Given the description of an element on the screen output the (x, y) to click on. 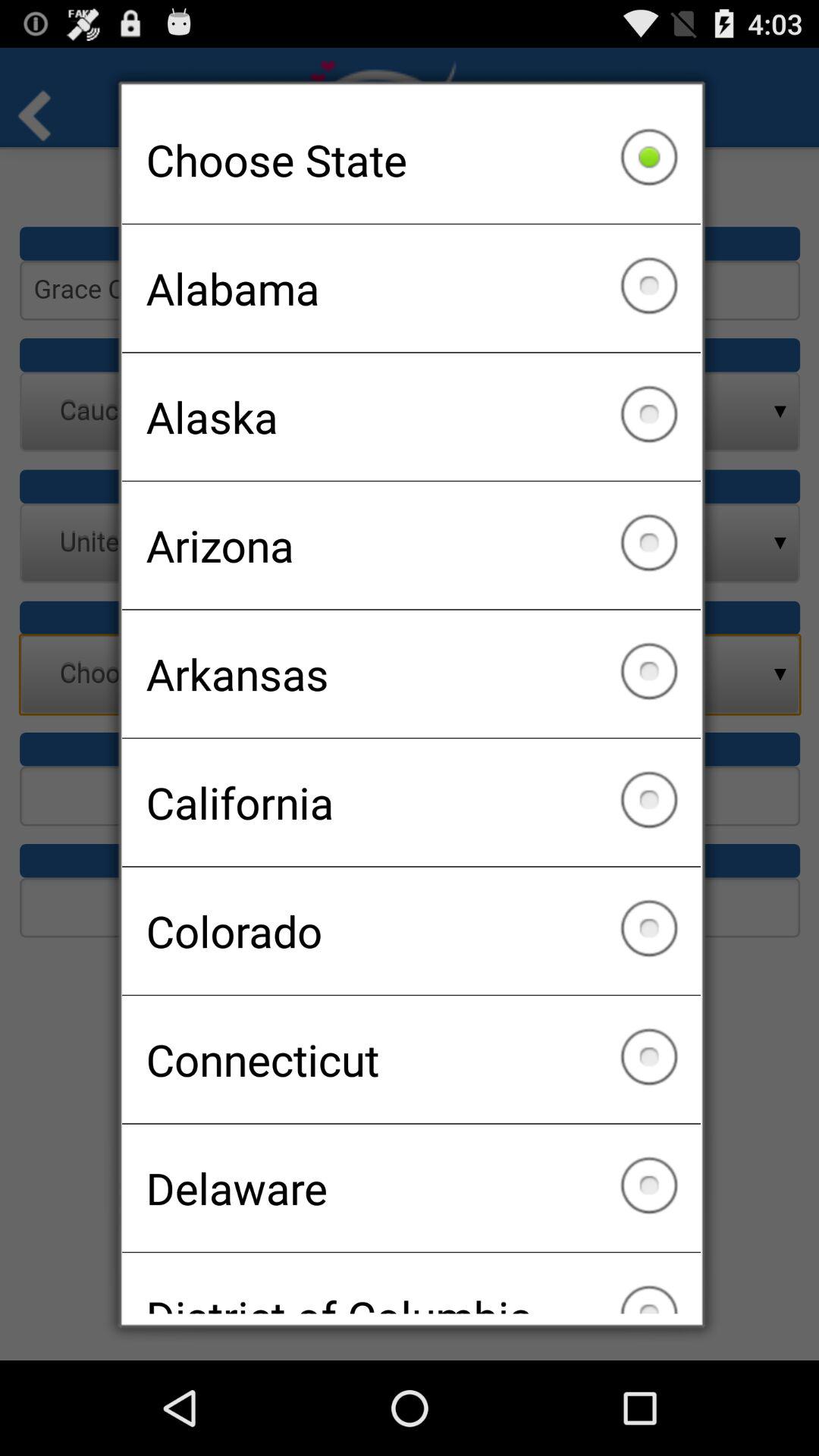
scroll to choose state checkbox (411, 159)
